Given the description of an element on the screen output the (x, y) to click on. 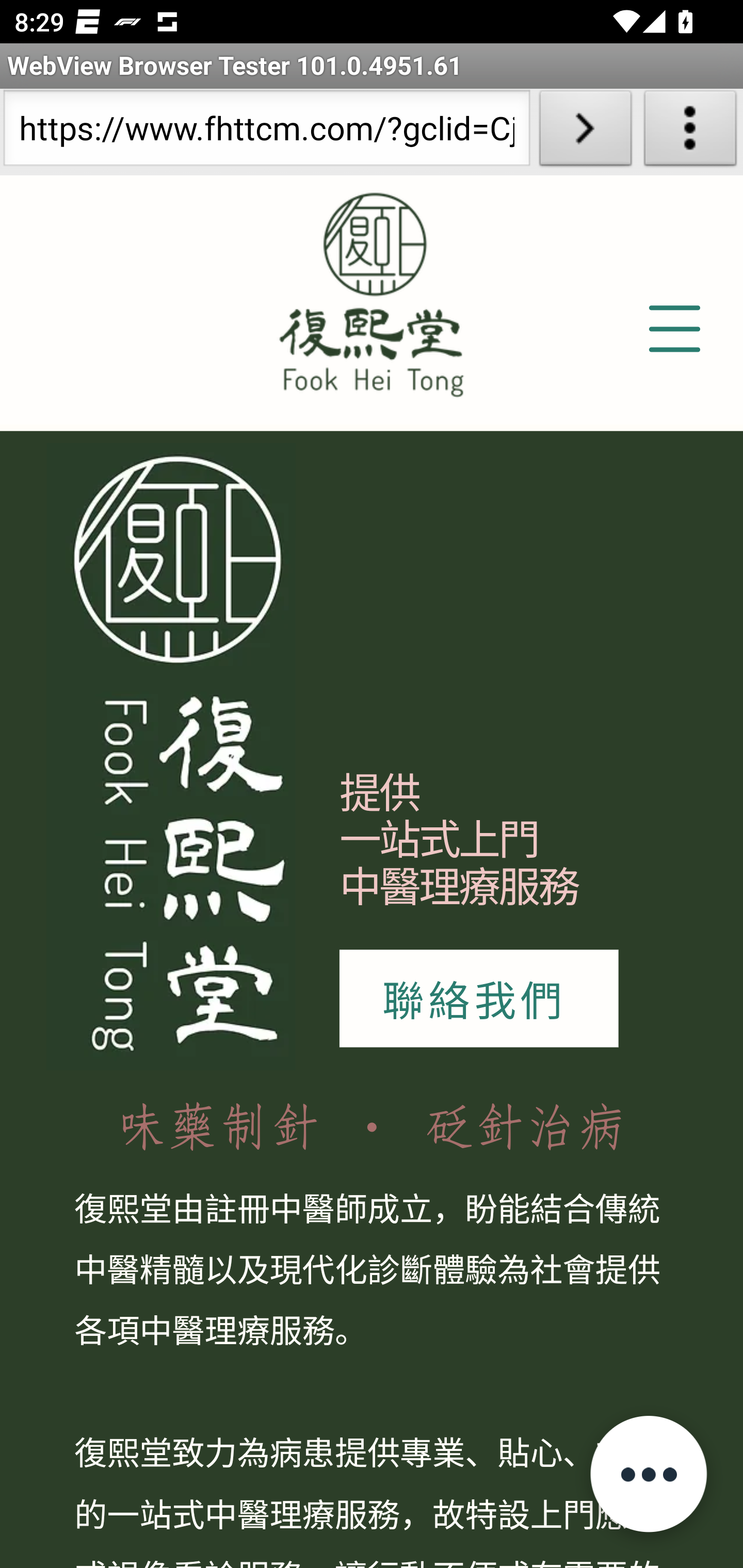
Load URL (585, 132)
About WebView (690, 132)
復熙堂 (371, 288)
Open navigation menu (673, 329)
復熙堂 (171, 756)
聯絡我們 (478, 998)
快速操作 (647, 1472)
